Given the description of an element on the screen output the (x, y) to click on. 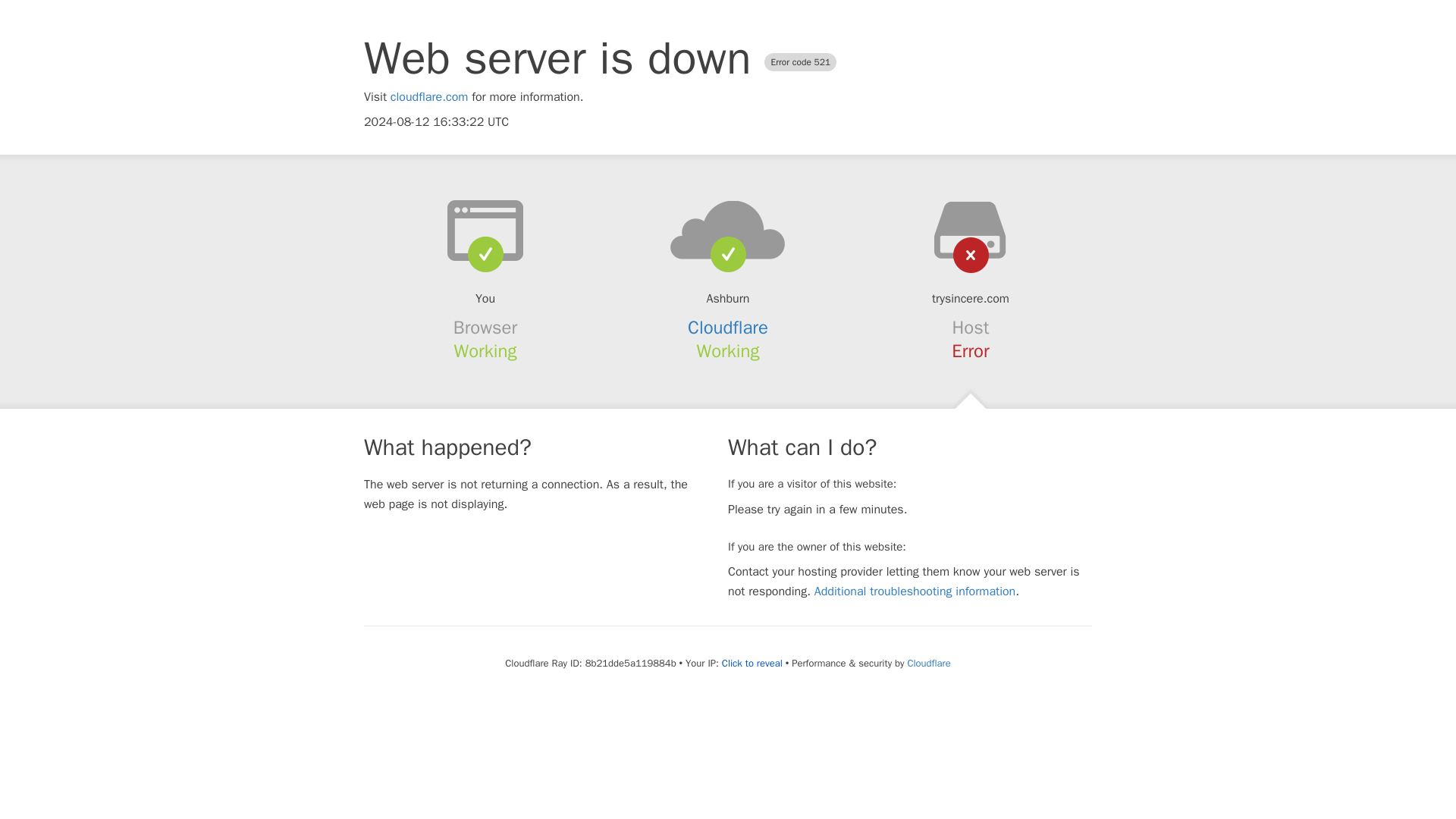
Cloudflare (928, 662)
Click to reveal (752, 663)
Additional troubleshooting information (913, 590)
cloudflare.com (429, 96)
Cloudflare (727, 327)
